Given the description of an element on the screen output the (x, y) to click on. 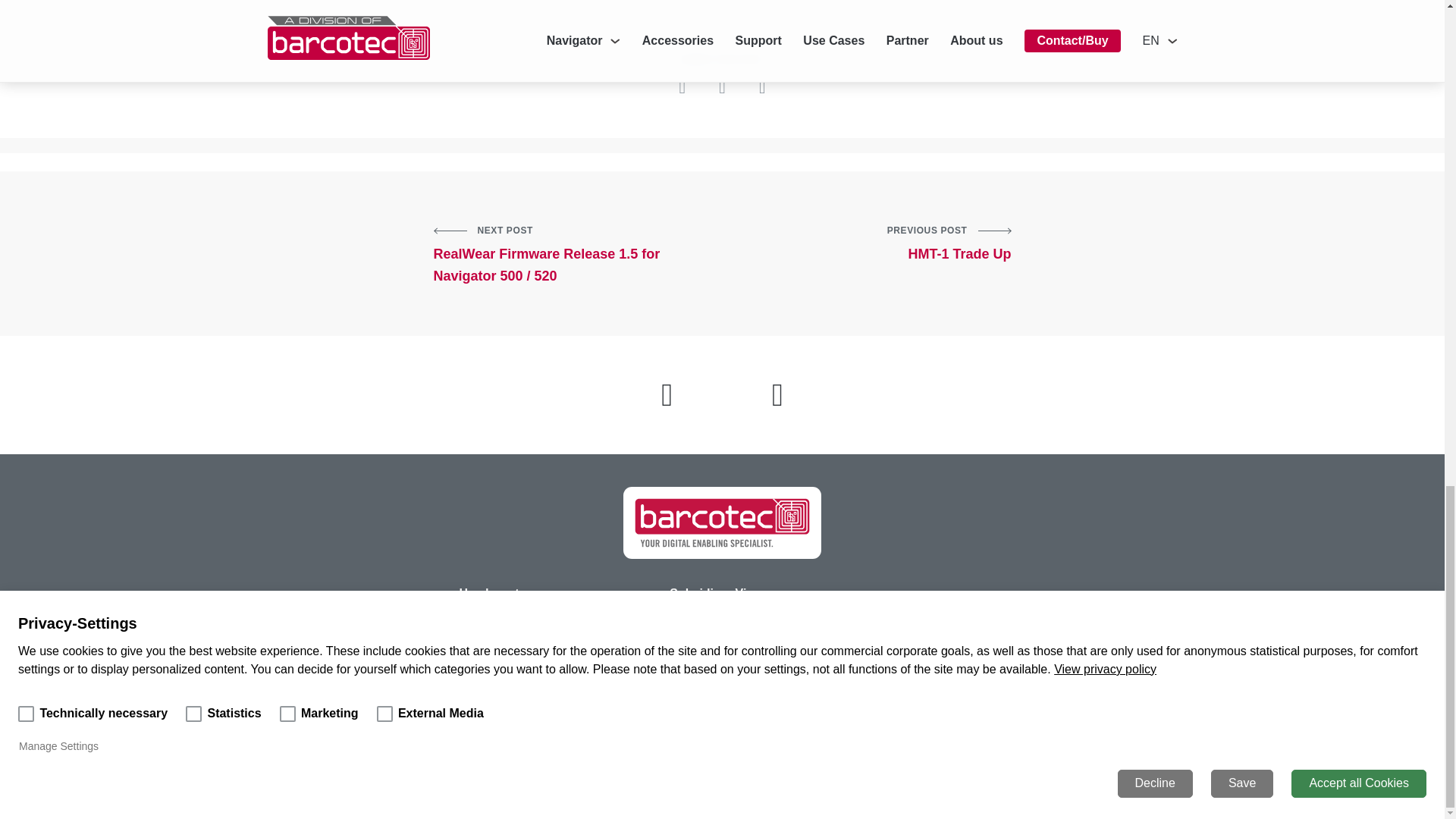
Share on LinkedIn (681, 86)
Privacy Policy (877, 242)
Share via Mail (950, 644)
Legal Notice (761, 86)
Share on Twitter (949, 622)
Barcotec GmbH (721, 86)
